Given the description of an element on the screen output the (x, y) to click on. 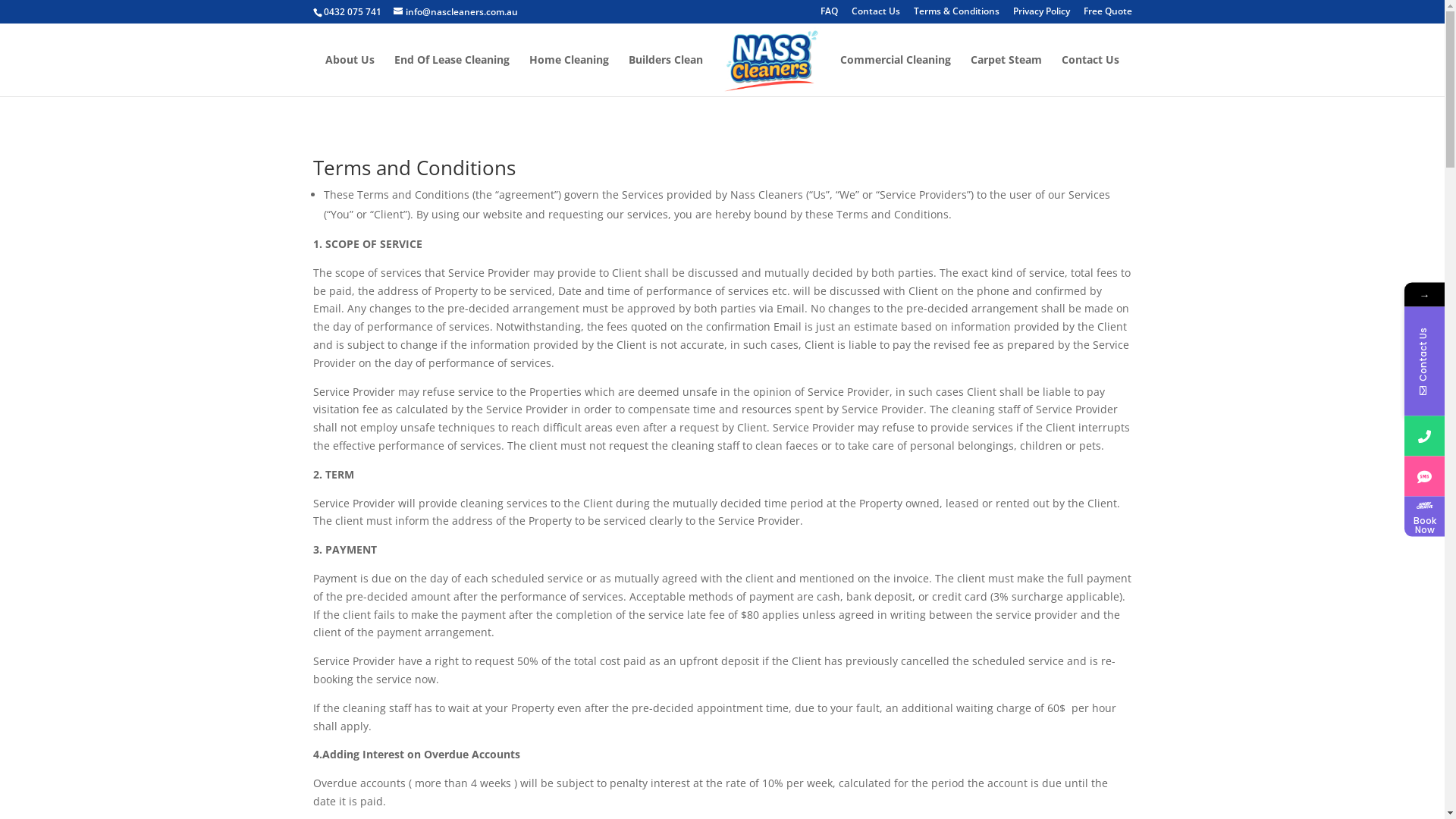
Terms & Conditions Element type: text (955, 14)
Contact Us Element type: text (1090, 75)
Commercial Cleaning Element type: text (895, 75)
Book Now Element type: text (1424, 515)
Contact Us Element type: text (874, 14)
Home Cleaning Element type: text (568, 75)
FAQ Element type: text (828, 14)
End Of Lease Cleaning Element type: text (451, 75)
About Us Element type: text (349, 75)
info@nascleaners.com.au Element type: text (454, 11)
Privacy Policy Element type: text (1041, 14)
Free Quote Element type: text (1106, 14)
Carpet Steam Element type: text (1005, 75)
Builders Clean Element type: text (665, 75)
